Given the description of an element on the screen output the (x, y) to click on. 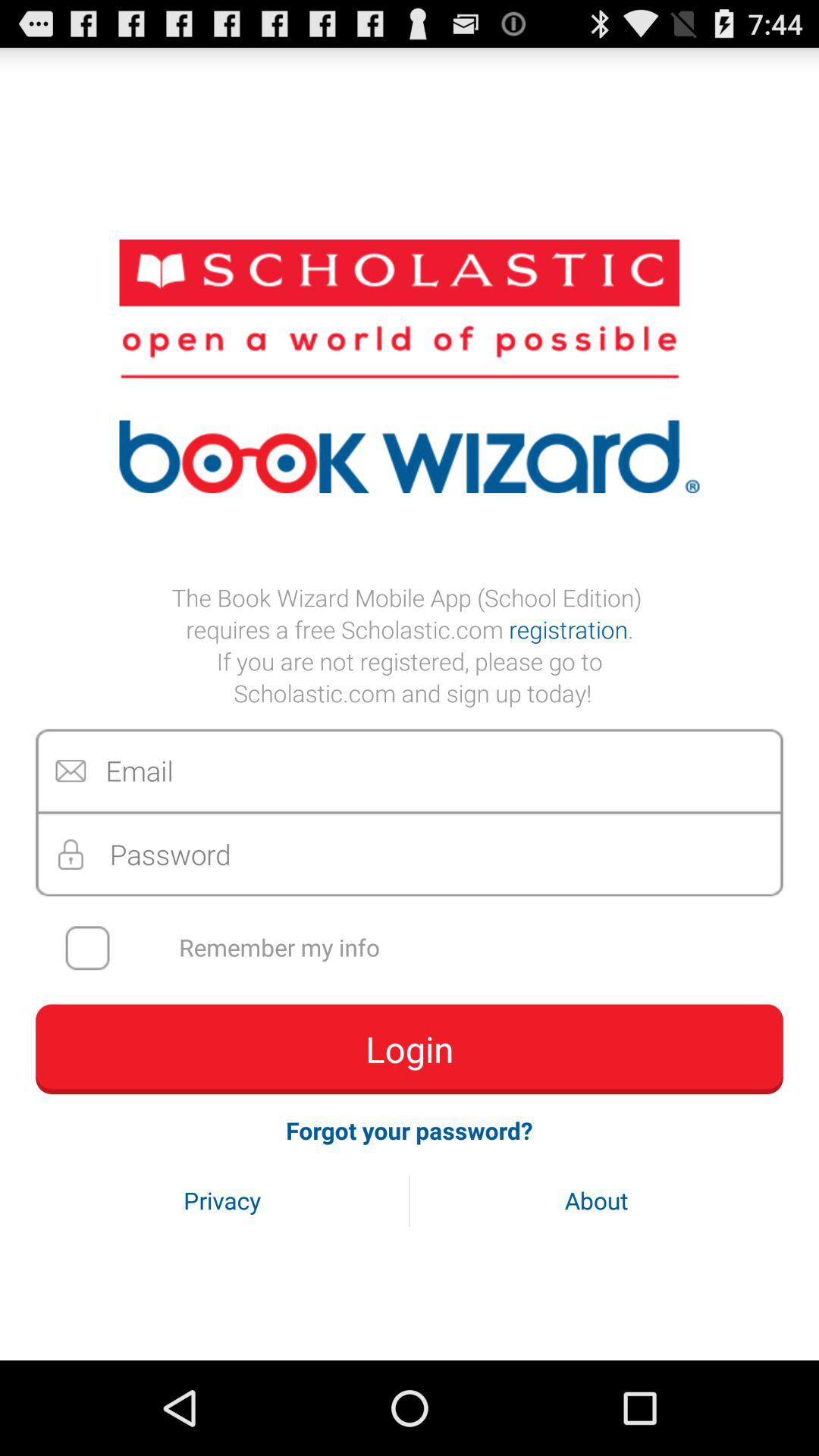
flip to login item (409, 1049)
